Given the description of an element on the screen output the (x, y) to click on. 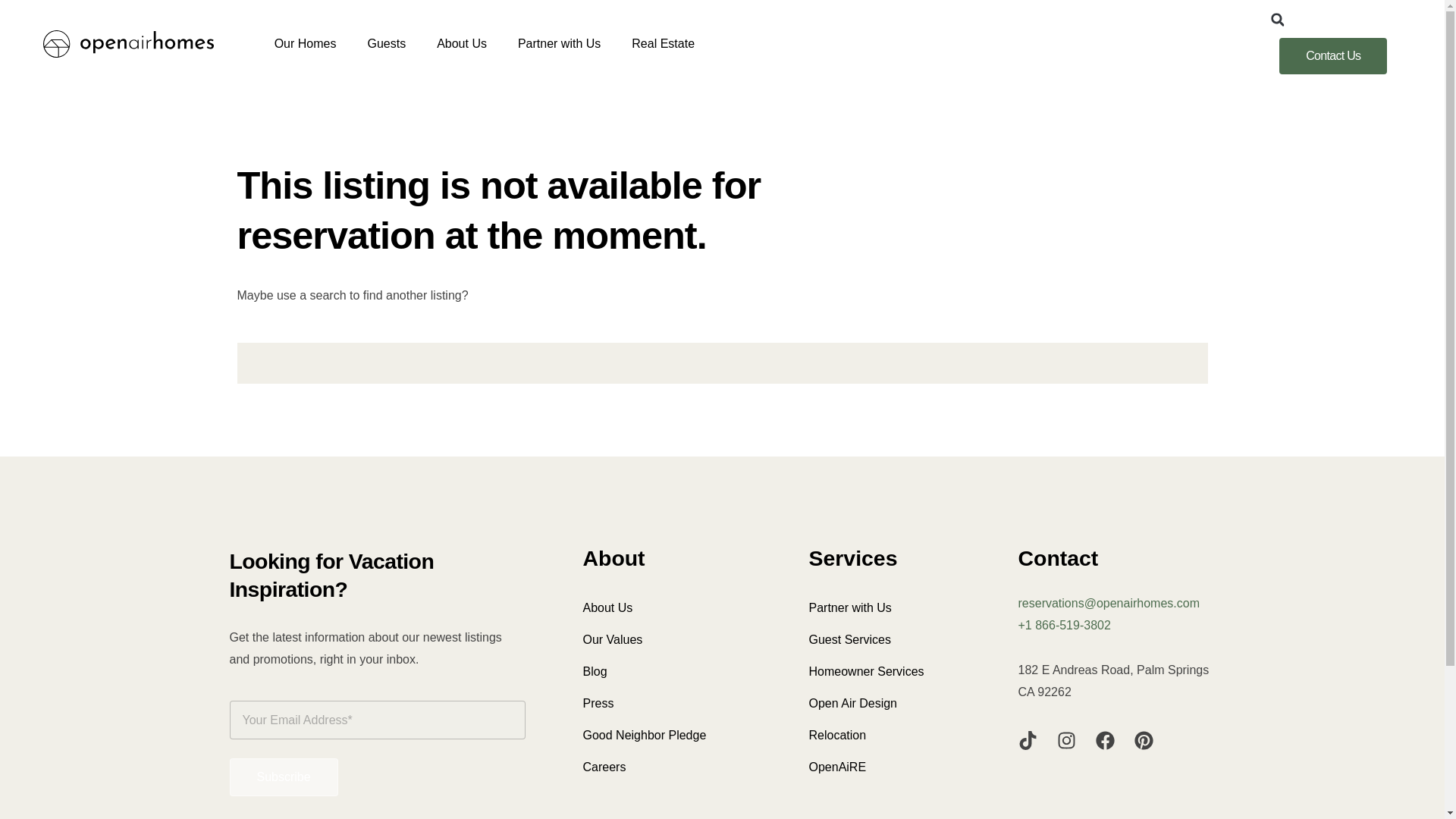
Blog (676, 671)
Careers (676, 766)
Our Values (676, 640)
Contact Us (1333, 55)
Our Homes (305, 44)
Real Estate (662, 44)
Partner with Us (558, 44)
Subscribe (282, 777)
Press (676, 703)
Subscribe (282, 777)
About Us (676, 608)
About Us (462, 44)
Good Neighbor Pledge (676, 735)
